Given the description of an element on the screen output the (x, y) to click on. 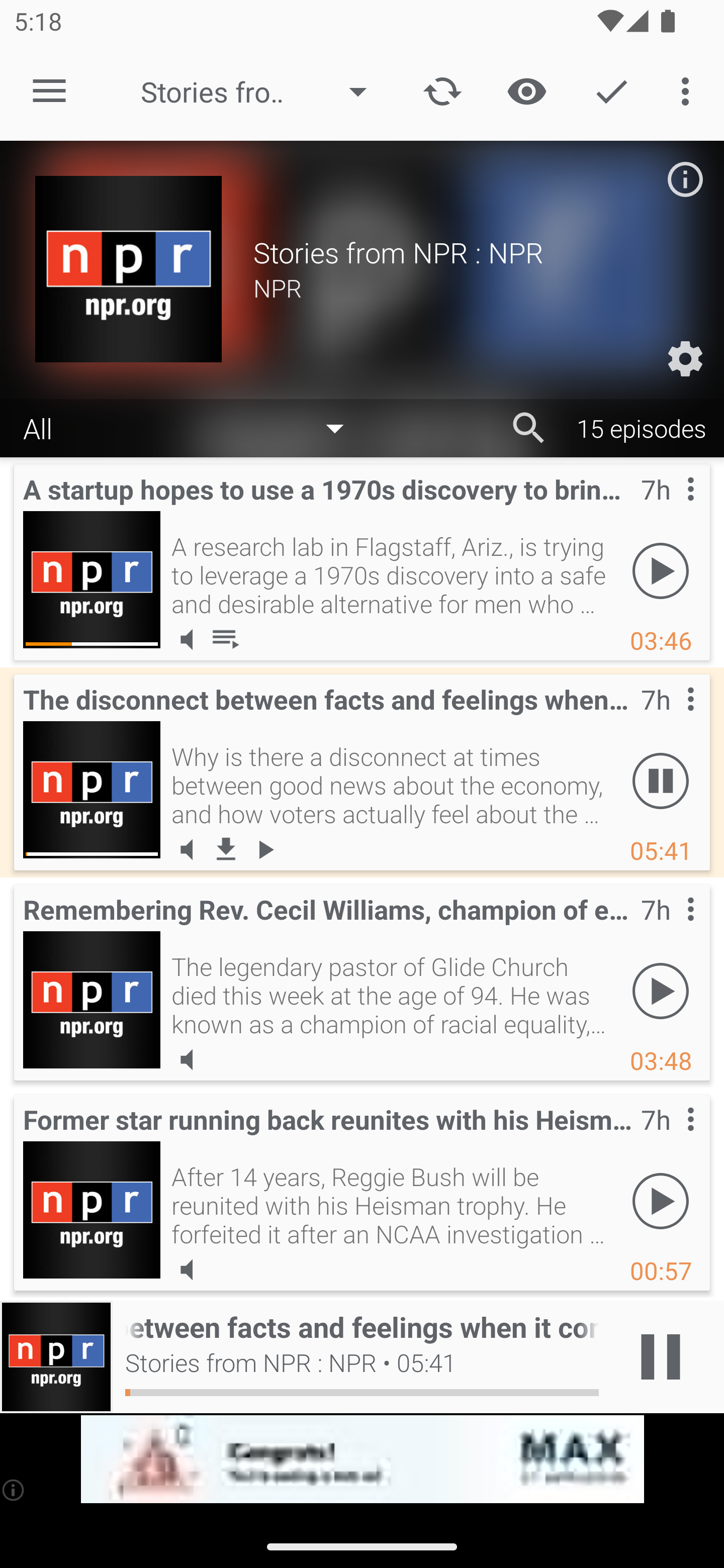
Open navigation sidebar (49, 91)
Update (442, 90)
Show / Hide played content (526, 90)
Action Mode (611, 90)
More options (688, 90)
Stories from NPR : NPR (263, 91)
Podcast description (685, 179)
NPR (470, 287)
Custom Settings (685, 358)
Search (528, 428)
All (192, 428)
Contextual menu (668, 508)
Play (660, 571)
Contextual menu (668, 718)
Pause (660, 780)
Contextual menu (668, 928)
Play (660, 990)
Contextual menu (668, 1138)
Play (660, 1200)
Play / Pause (660, 1356)
app-monetization (362, 1459)
(i) (14, 1489)
